Given the description of an element on the screen output the (x, y) to click on. 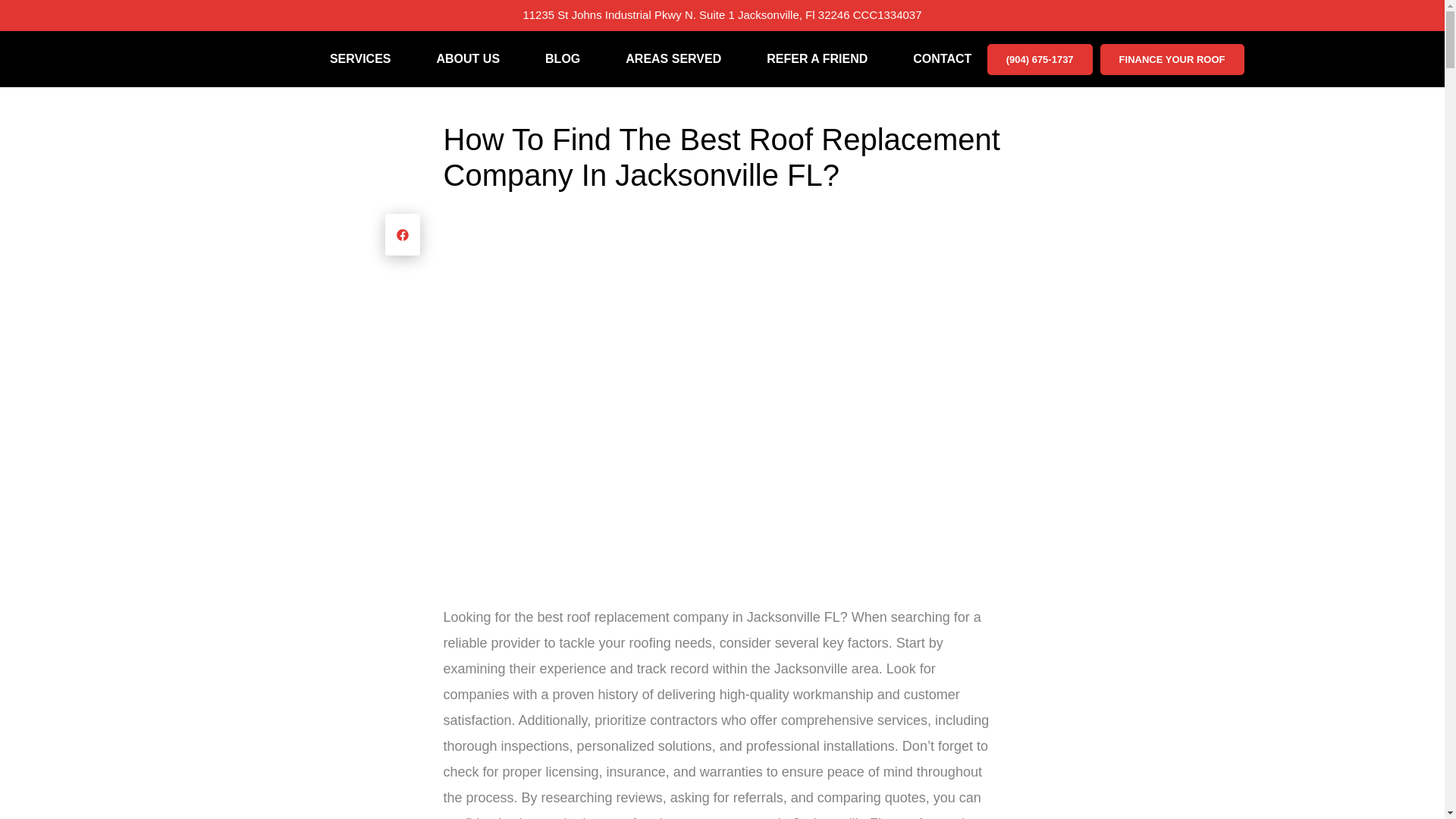
ABOUT US (468, 58)
SERVICES (360, 58)
AREAS SERVED (673, 58)
